Given the description of an element on the screen output the (x, y) to click on. 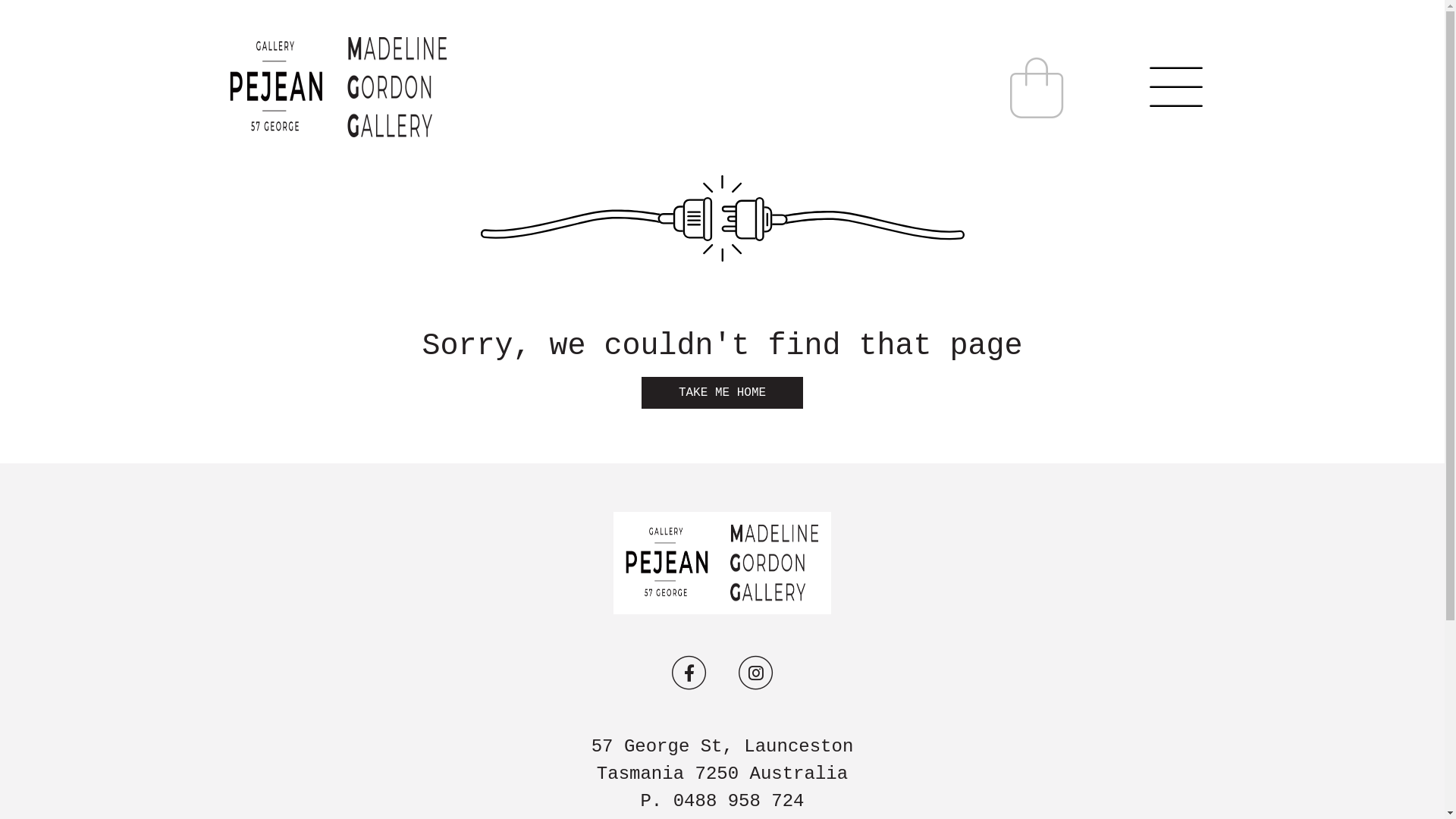
FaceBook Element type: hover (688, 673)
TAKE ME HOME Element type: text (722, 392)
0488 958 724 Element type: text (738, 800)
Instagram Element type: hover (754, 673)
